Given the description of an element on the screen output the (x, y) to click on. 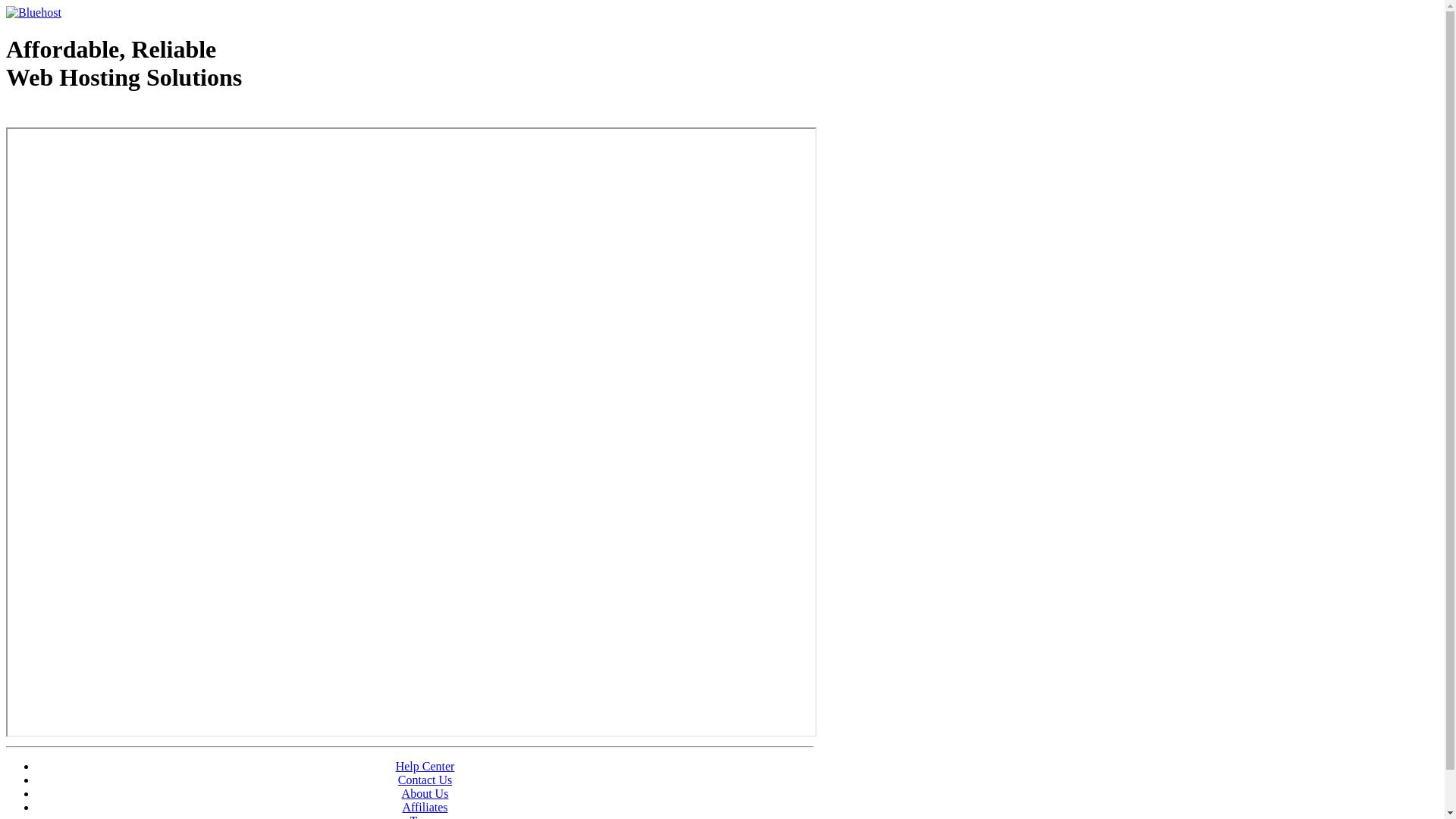
Affiliates Element type: text (424, 806)
Web Hosting - courtesy of www.bluehost.com Element type: text (94, 115)
About Us Element type: text (424, 793)
Contact Us Element type: text (425, 779)
Help Center Element type: text (425, 765)
